Given the description of an element on the screen output the (x, y) to click on. 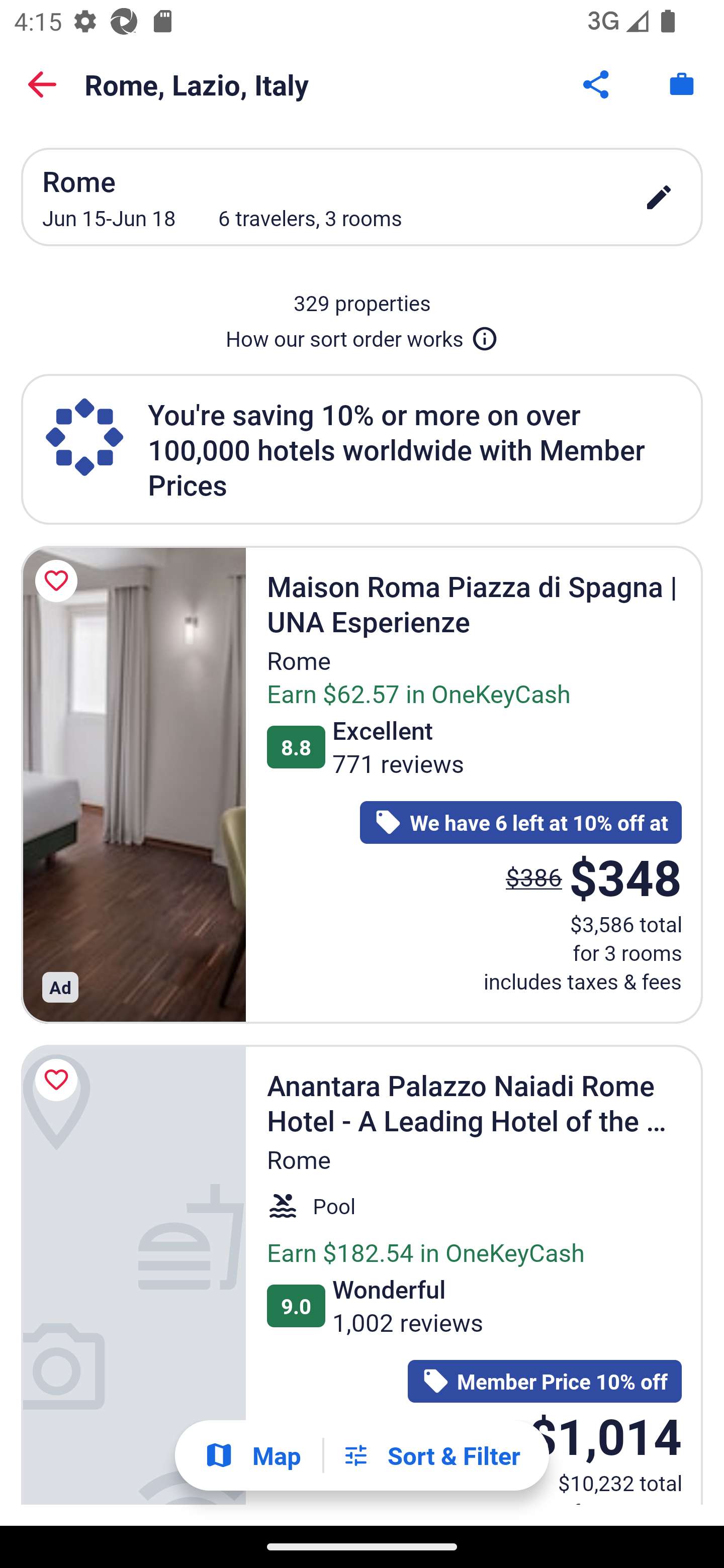
Back (42, 84)
Share Button (597, 84)
Trips. Button (681, 84)
Rome Jun 15-Jun 18 6 travelers, 3 rooms edit (361, 196)
How our sort order works (361, 334)
Maison Roma Piazza di Spagna | UNA Esperienze (133, 784)
$386 The price was $386 (533, 876)
Filters Sort & Filter Filters Button (430, 1455)
Show map Map Show map Button (252, 1455)
